Given the description of an element on the screen output the (x, y) to click on. 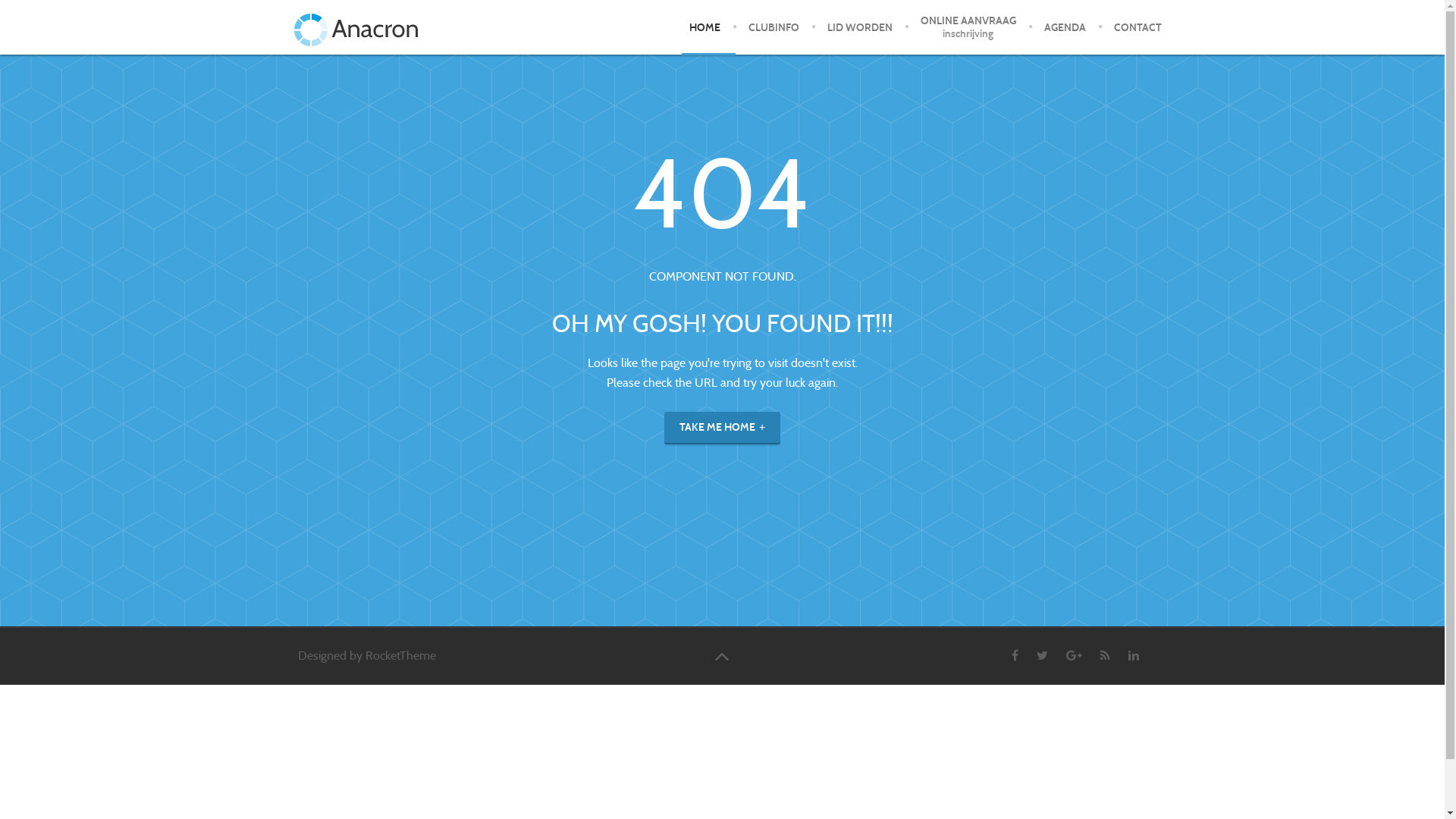
TAKE ME HOME Element type: text (722, 427)
ONLINE AANVRAAG
inschrijving Element type: text (967, 27)
AGENDA Element type: text (1064, 27)
HOME Element type: text (704, 27)
LID WORDEN Element type: text (859, 27)
